Given the description of an element on the screen output the (x, y) to click on. 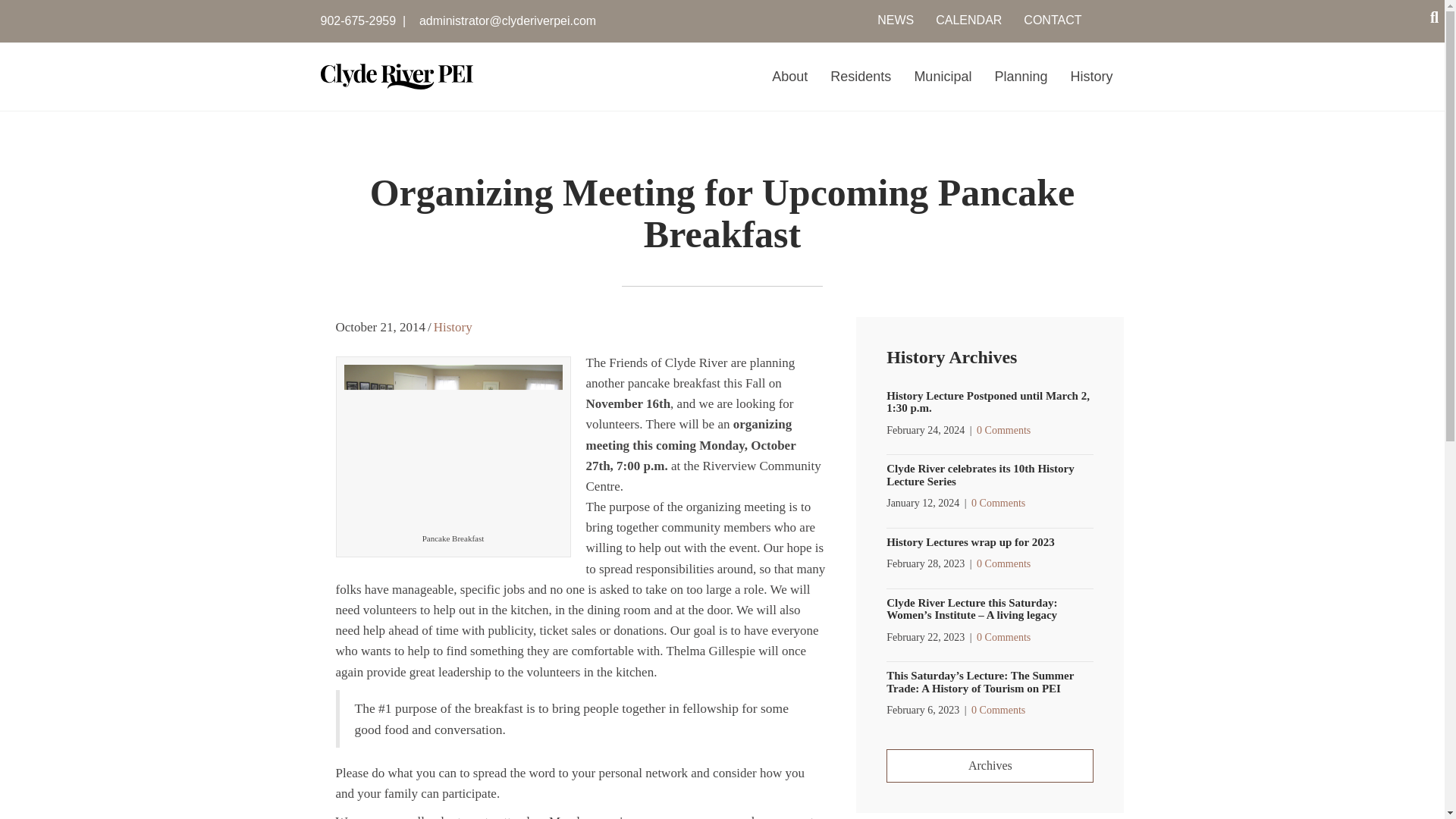
Municipal (941, 74)
About (789, 74)
Clyde River PEI (396, 76)
Clyde River celebrates its 10th History Lecture Series (980, 474)
Residents (860, 74)
CONTACT (1052, 20)
History Lecture Postponed until March 2, 1:30 p.m. (987, 401)
Planning (1020, 74)
CALENDAR (967, 20)
History Lectures wrap up for 2023 (970, 541)
